Given the description of an element on the screen output the (x, y) to click on. 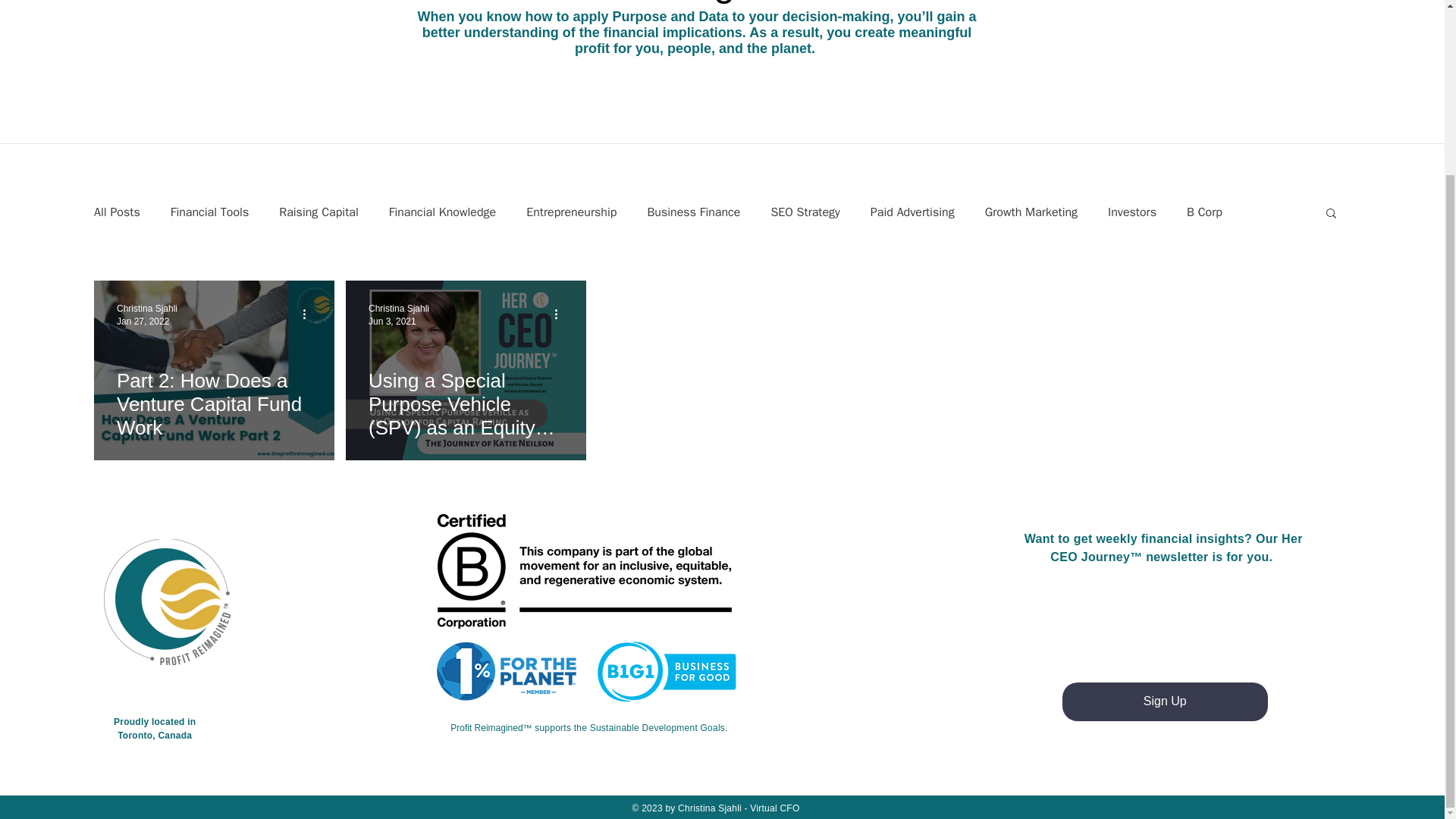
Paid Advertising (912, 211)
Raising Capital (318, 211)
Jan 27, 2022 (142, 321)
Christina Sjahli (398, 308)
Business Finance (692, 211)
Entrepreneurship (570, 211)
Financial Knowledge (442, 211)
Growth Marketing (1031, 211)
Part 2: How Does a Venture Capital Fund Work (213, 403)
Financial Tools (209, 211)
B Corp (1204, 211)
SEO Strategy (805, 211)
b corp certified.png (589, 571)
Christina Sjahli (146, 308)
Investors (1132, 211)
